Given the description of an element on the screen output the (x, y) to click on. 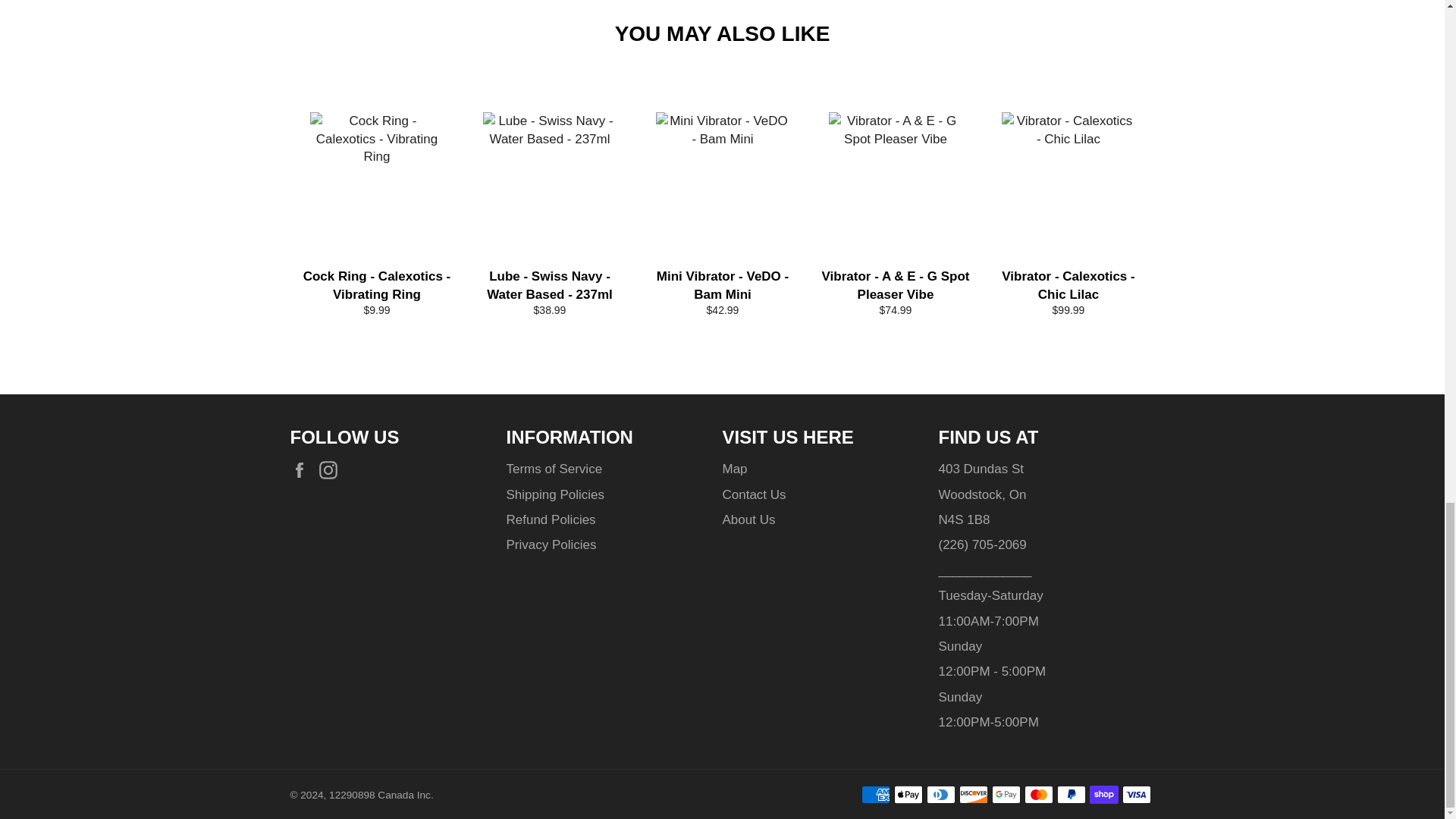
12290898 Canada Inc on Facebook (302, 469)
Privacy Policy (551, 544)
Contact Us (754, 494)
Terms of Service (554, 468)
Refund Policy (550, 519)
About Us (748, 519)
12290898 Canada Inc on Instagram (331, 469)
Shipping Policy (555, 494)
